Given the description of an element on the screen output the (x, y) to click on. 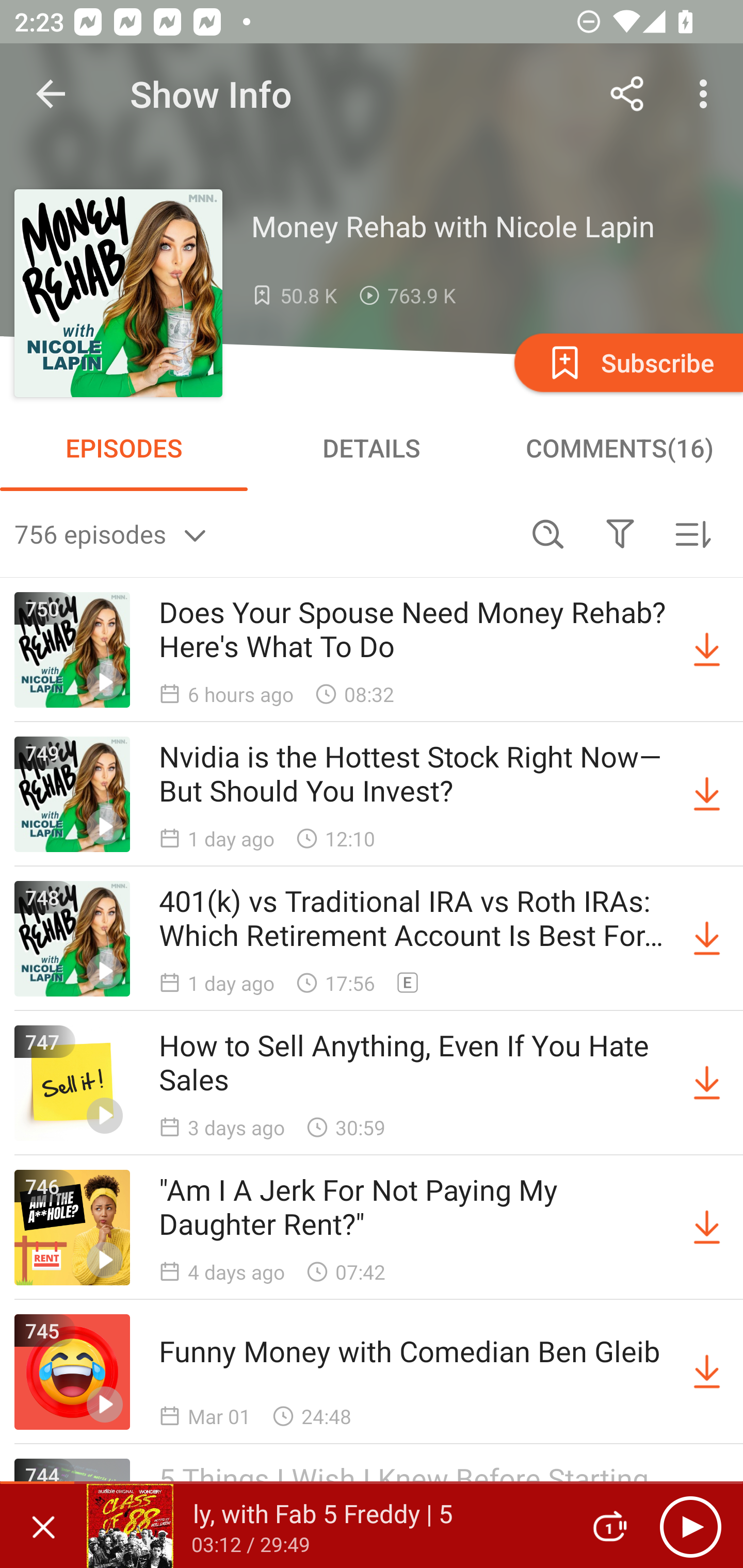
Navigate up (50, 93)
Share (626, 93)
More options (706, 93)
Subscribe (627, 361)
EPISODES (123, 447)
DETAILS (371, 447)
COMMENTS(16) (619, 447)
756 episodes  (262, 533)
 Search (547, 533)
 (619, 533)
 Sorted by newest first (692, 533)
Download (706, 649)
Download (706, 793)
Download (706, 939)
Download (706, 1083)
Download (706, 1227)
Download (706, 1371)
Play (690, 1526)
